Given the description of an element on the screen output the (x, y) to click on. 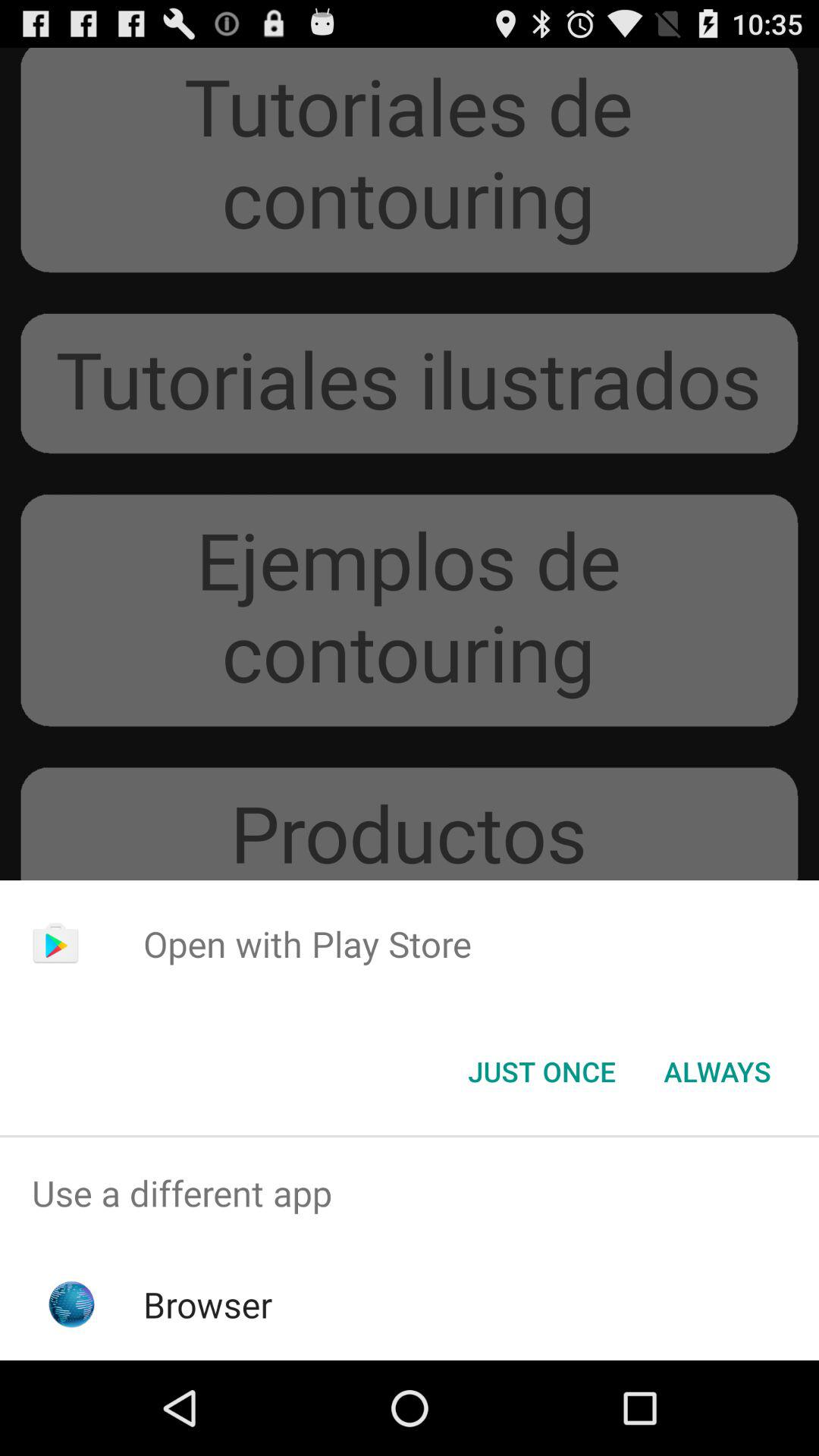
press the icon to the left of the always button (541, 1071)
